Given the description of an element on the screen output the (x, y) to click on. 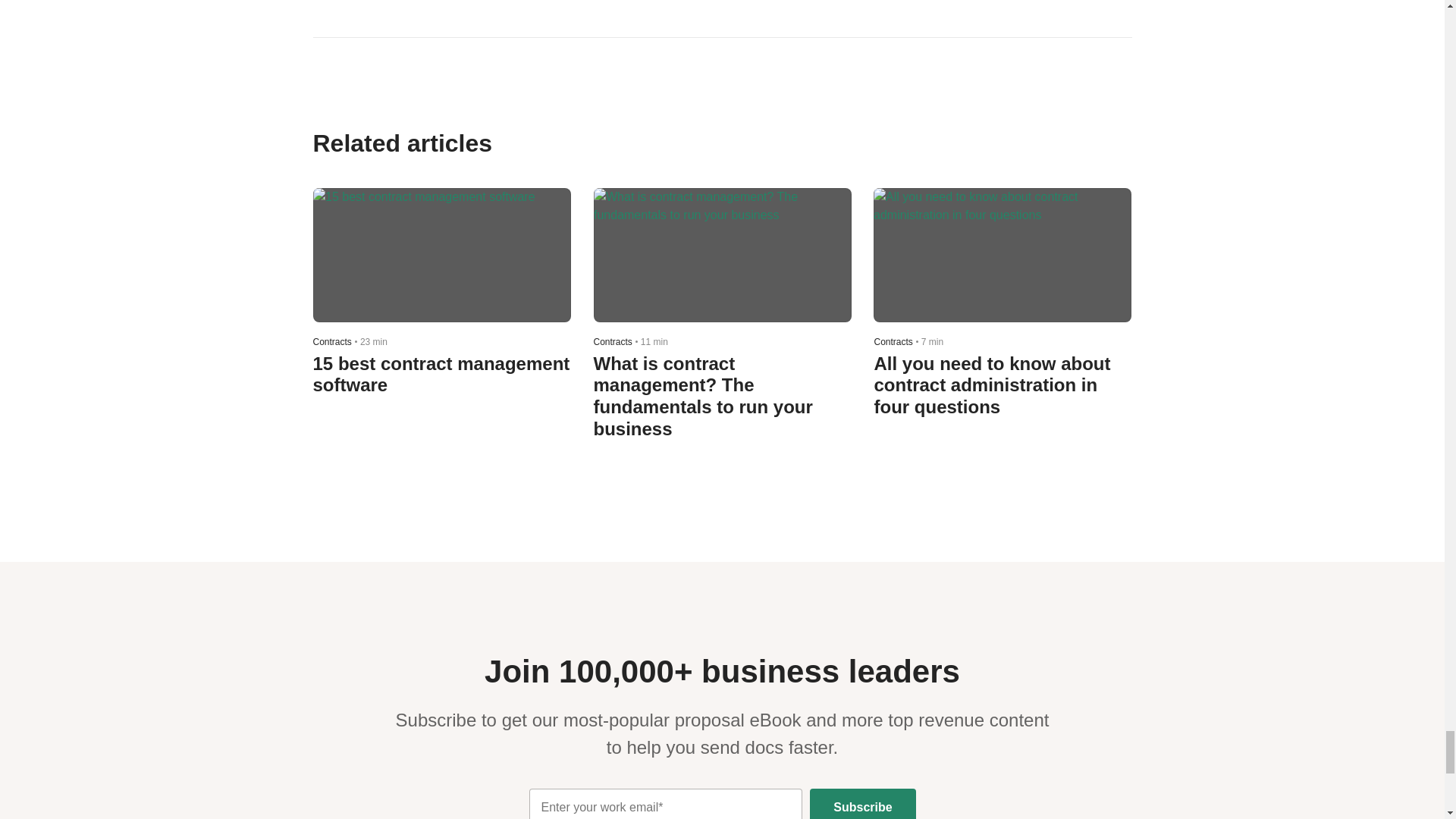
Subscribe (862, 803)
